Given the description of an element on the screen output the (x, y) to click on. 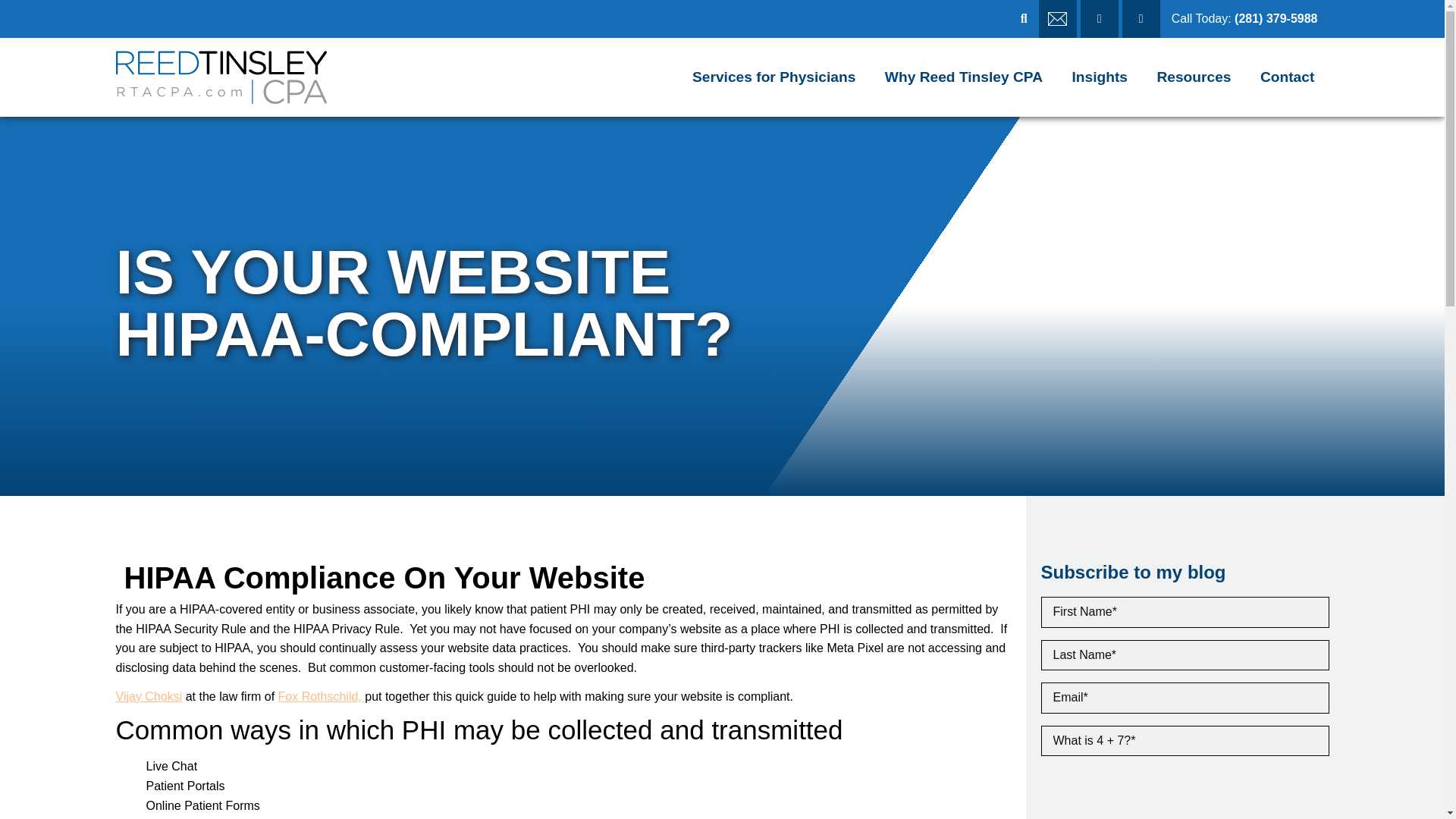
Vijay Choksi (148, 696)
Services for Physicians (774, 77)
Contact (1287, 77)
Resources (1193, 77)
Search (1210, 18)
Subscribe (72, 16)
Fox Rothschild, (321, 696)
LEARN MORE (78, 16)
Insights (1099, 77)
Why Reed Tinsley CPA (964, 77)
